Given the description of an element on the screen output the (x, y) to click on. 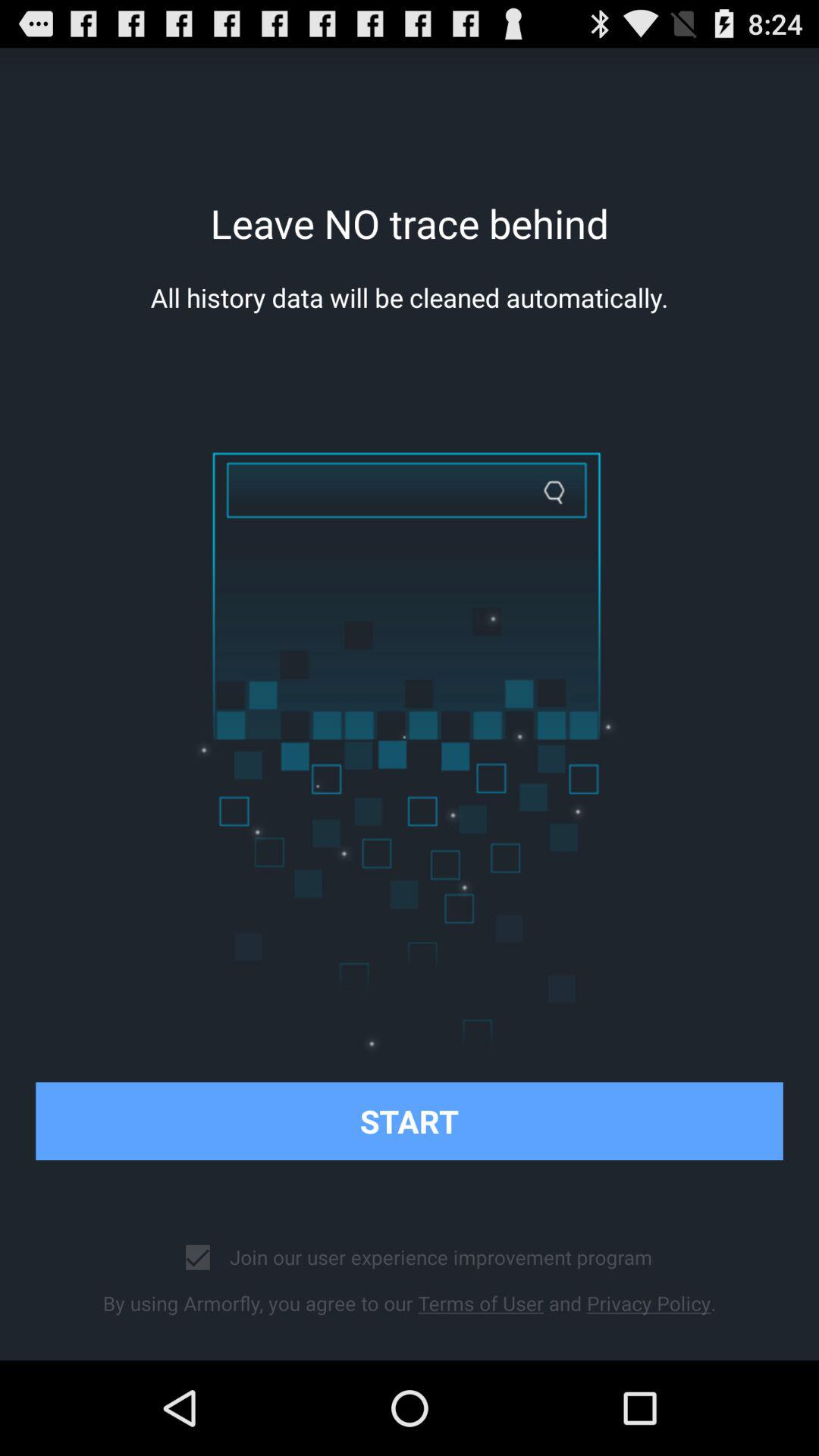
click the by using armorfly icon (409, 1302)
